Given the description of an element on the screen output the (x, y) to click on. 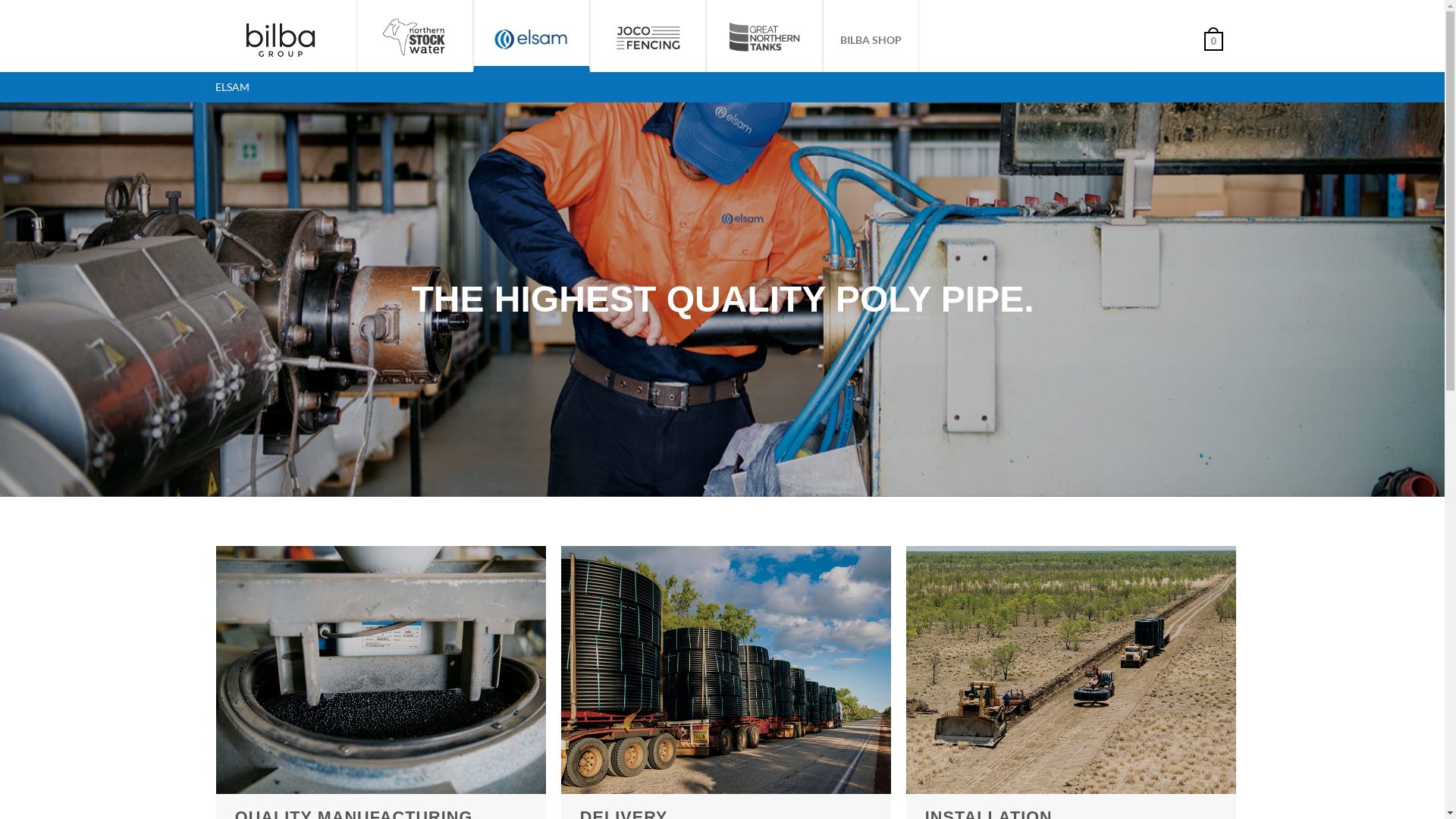
0 Element type: text (1209, 39)
ELSAM Element type: text (232, 87)
BILBA SHOP Element type: text (870, 39)
